Given the description of an element on the screen output the (x, y) to click on. 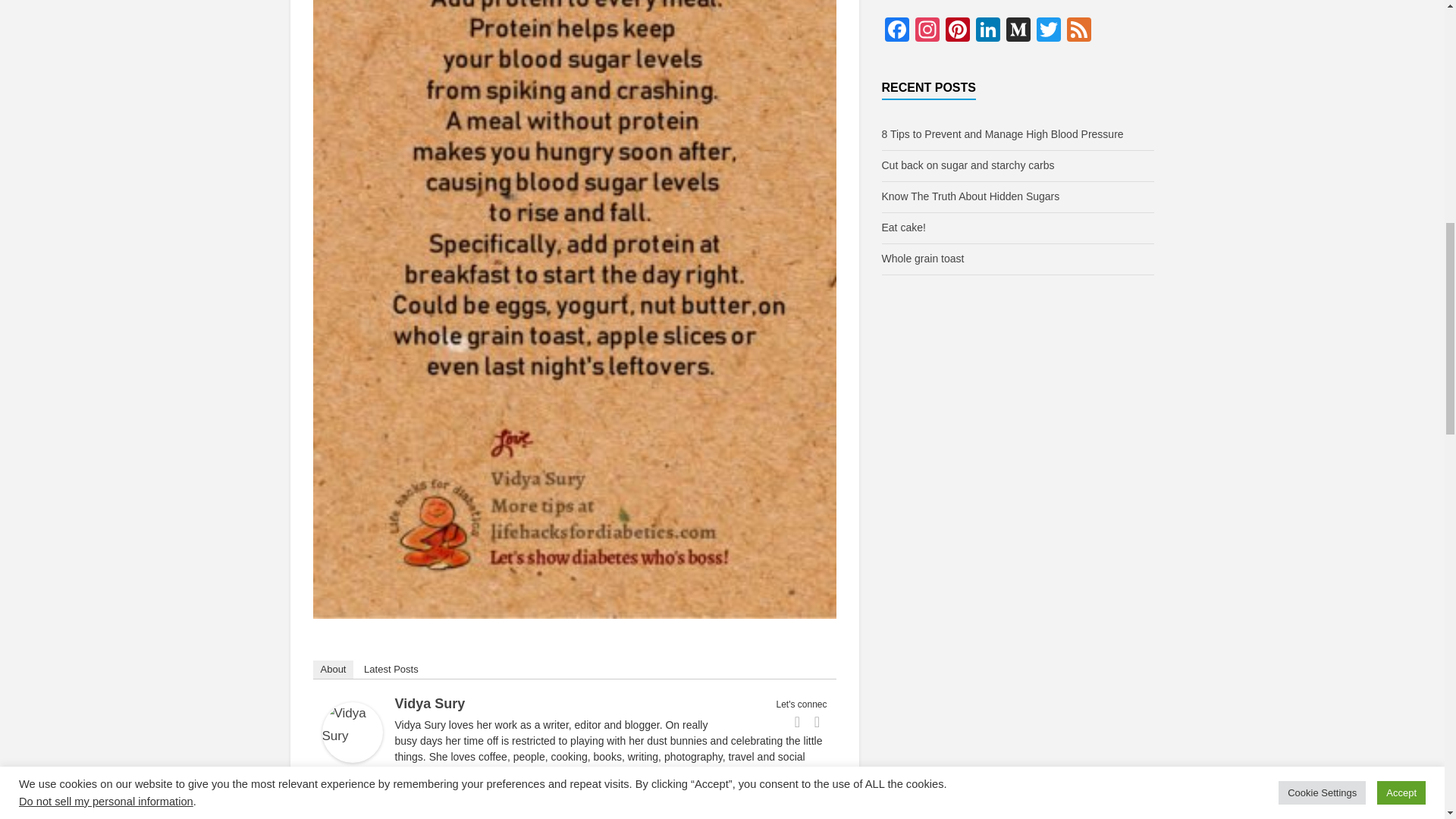
Cut back on sugar and starchy carbs (967, 164)
Know The Truth About Hidden Sugars (969, 196)
8 Tips to Prevent and Manage High Blood Pressure (1001, 133)
Medium (1017, 31)
Vidya Sury (429, 703)
Eat cake! (902, 227)
Instagram (926, 31)
Facebook (797, 721)
Twitter (1047, 31)
Twitter (817, 721)
